Given the description of an element on the screen output the (x, y) to click on. 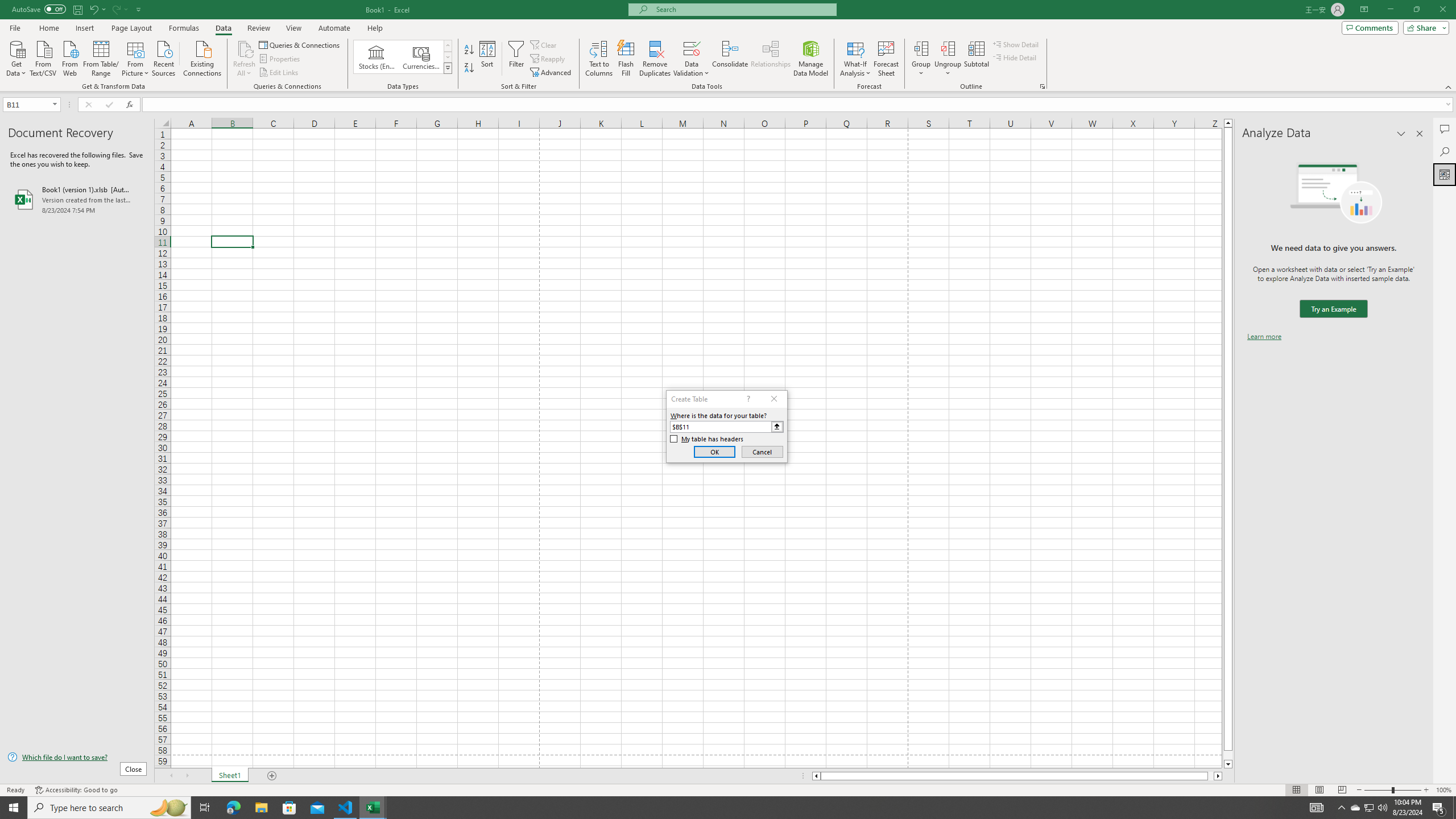
Reapply (548, 58)
Forecast Sheet (885, 58)
